Given the description of an element on the screen output the (x, y) to click on. 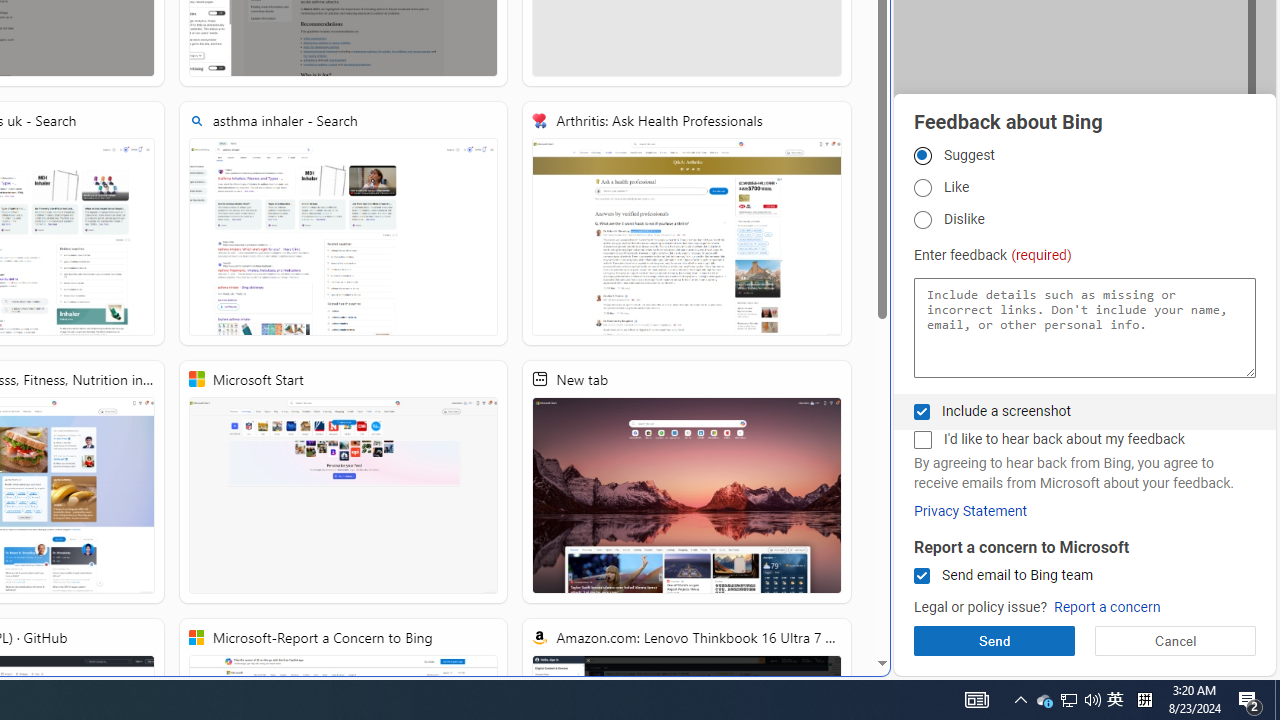
Include a screenshot (921, 411)
